Given the description of an element on the screen output the (x, y) to click on. 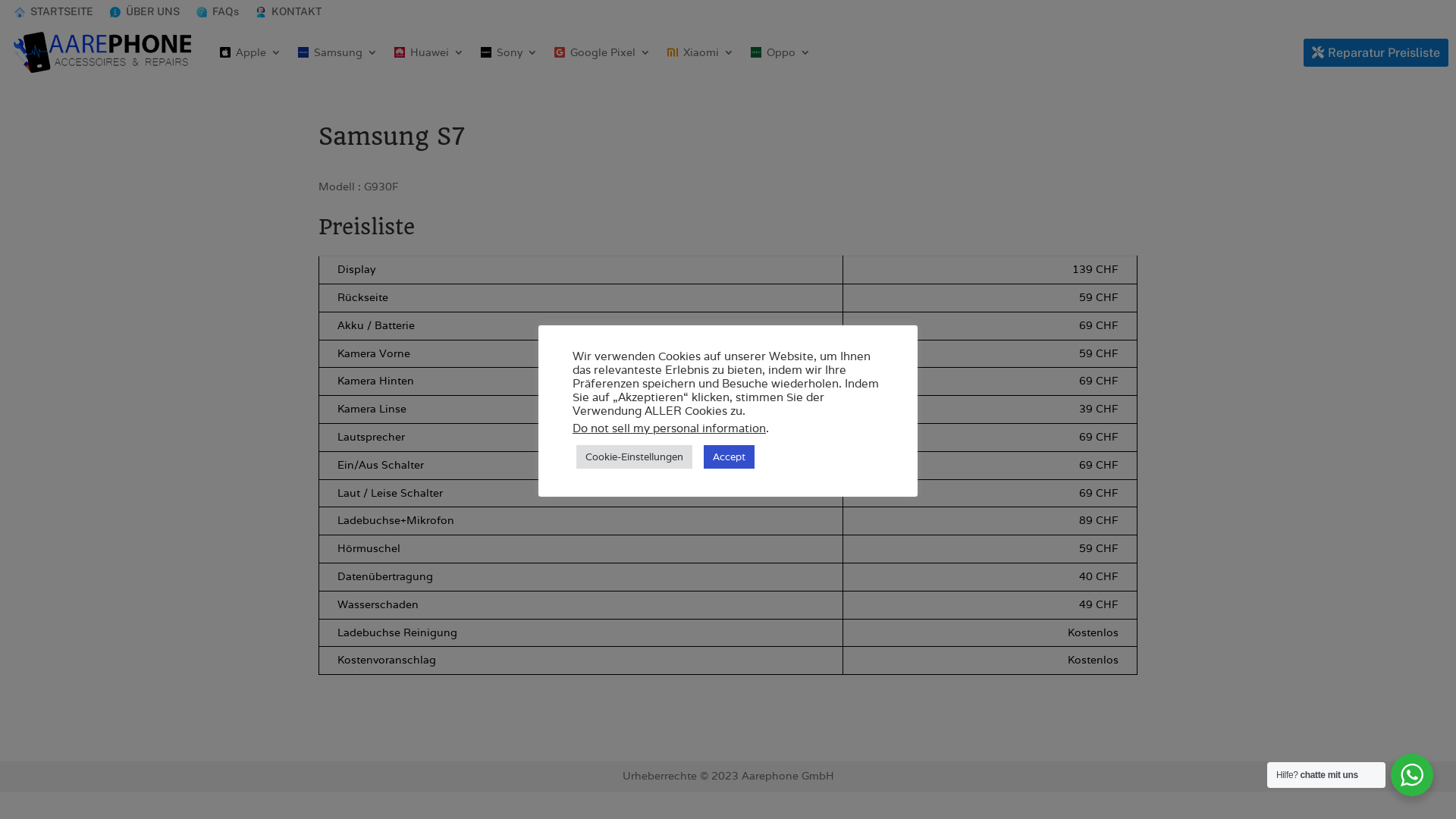
Huawei Element type: text (429, 52)
Reparatur Preisliste Element type: text (1375, 52)
STARTSEITE Element type: text (53, 14)
Samsung Element type: text (337, 52)
Apple Element type: text (250, 52)
KONTAKT Element type: text (288, 14)
Do not sell my personal information Element type: text (668, 427)
Oppo Element type: text (780, 52)
Accept Element type: text (728, 456)
Cookie-Einstellungen Element type: text (634, 456)
FAQs Element type: text (217, 14)
Xiaomi Element type: text (700, 52)
Sony Element type: text (508, 52)
Google Pixel Element type: text (602, 52)
